Given the description of an element on the screen output the (x, y) to click on. 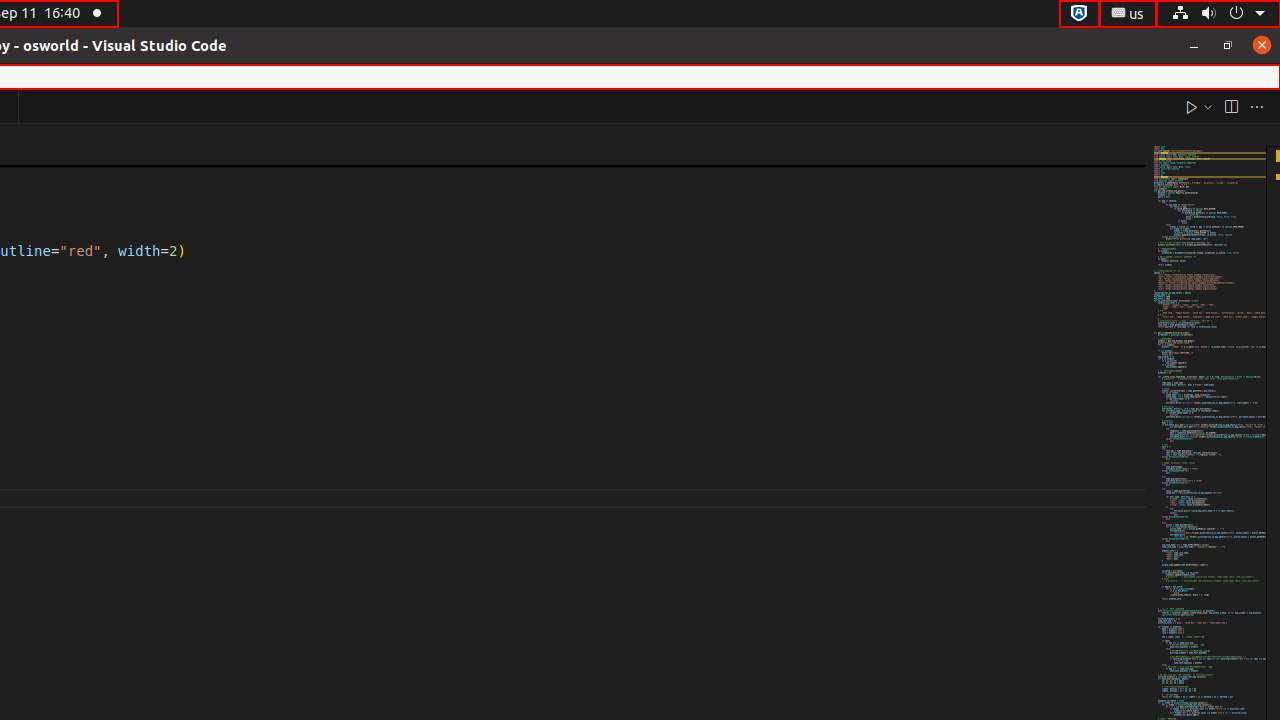
:1.21/StatusNotifierItem Element type: menu (1127, 13)
